Given the description of an element on the screen output the (x, y) to click on. 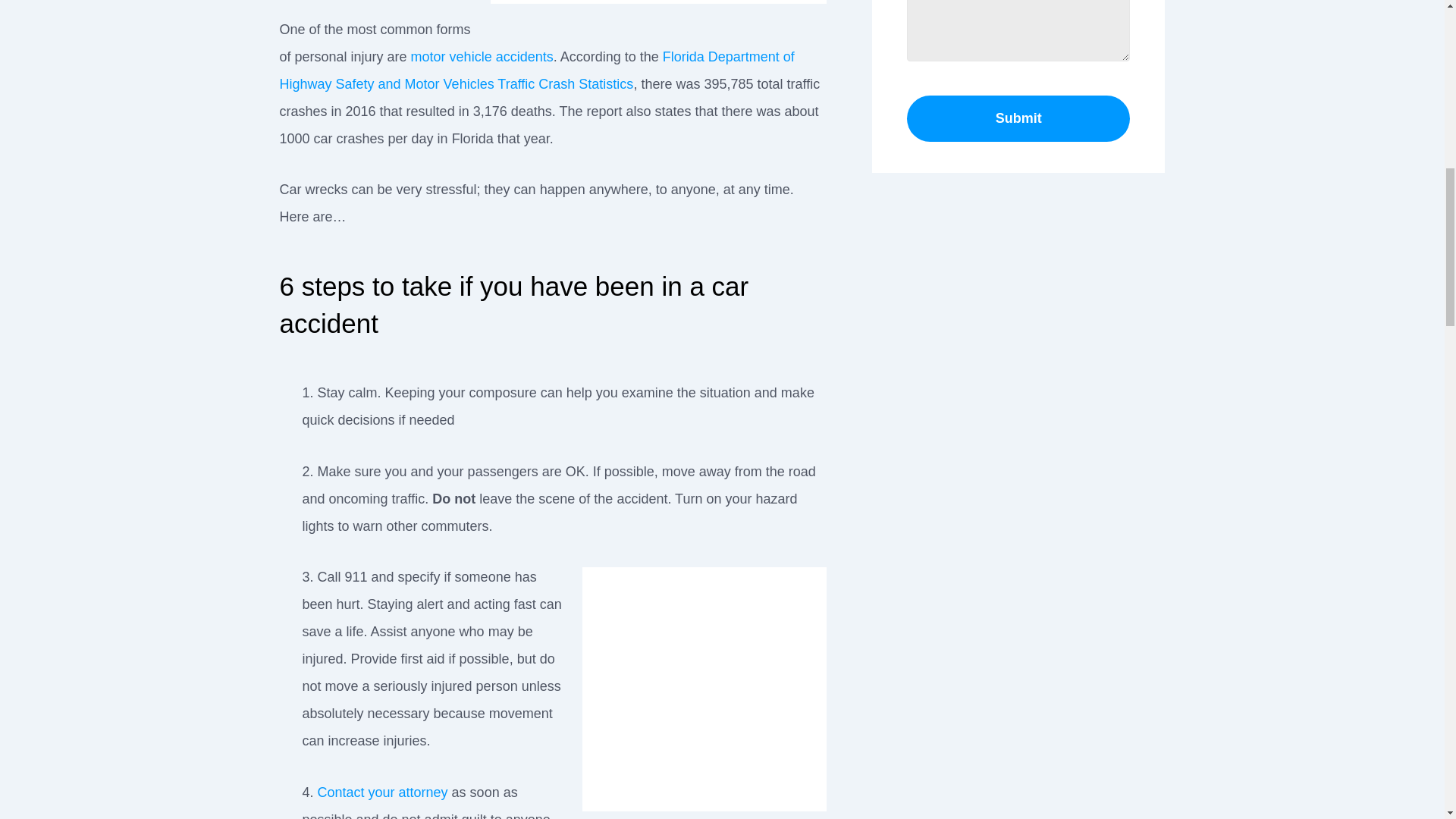
Submit (1019, 117)
